Given the description of an element on the screen output the (x, y) to click on. 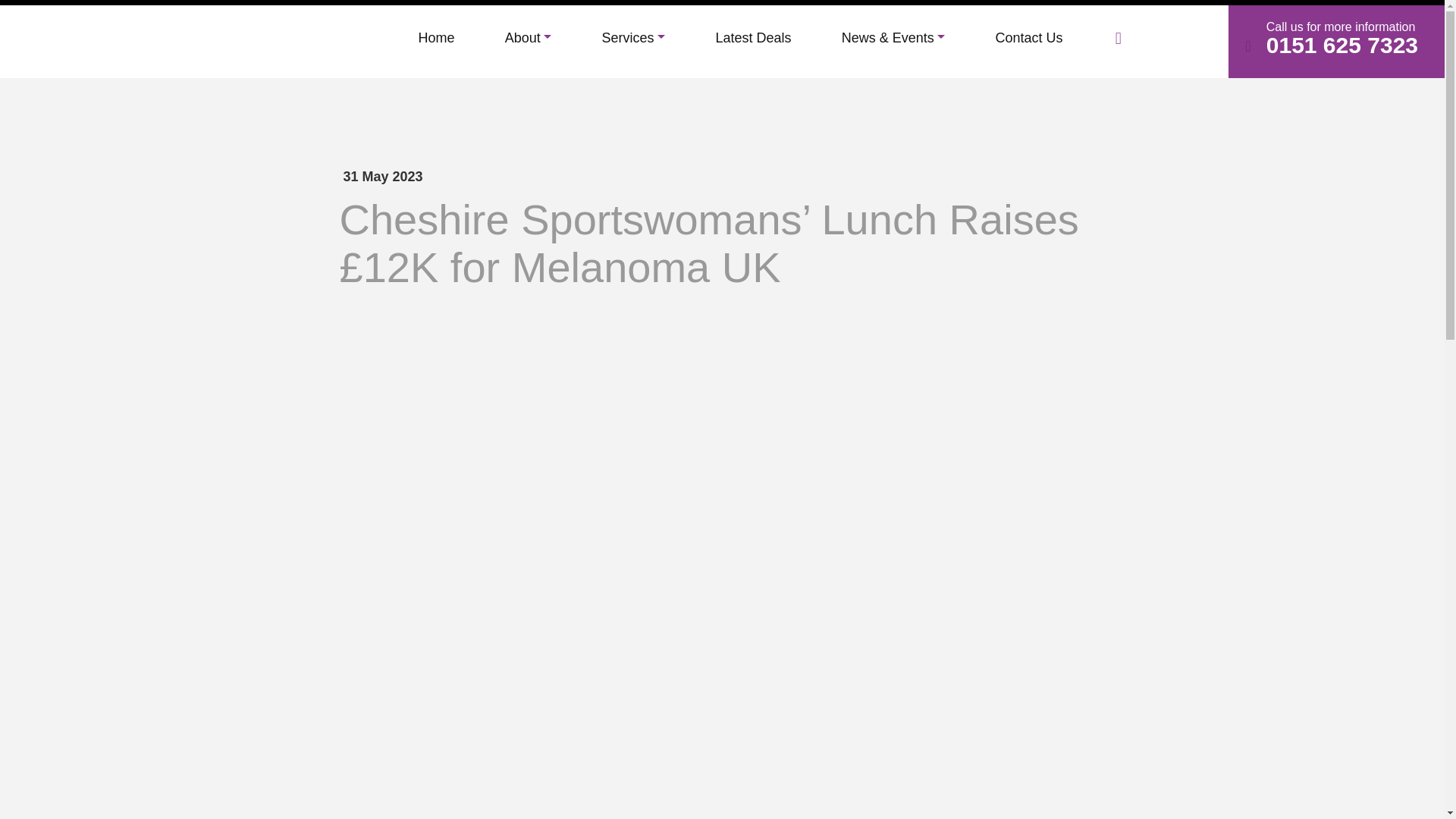
About (528, 37)
Home (436, 37)
Latest Deals (752, 37)
About (528, 37)
Services (633, 37)
Contact Us (1029, 37)
Services (633, 37)
Home (436, 37)
Latest Deals (752, 37)
Contact Us (1029, 37)
0151 625 7323 (1342, 44)
